Given the description of an element on the screen output the (x, y) to click on. 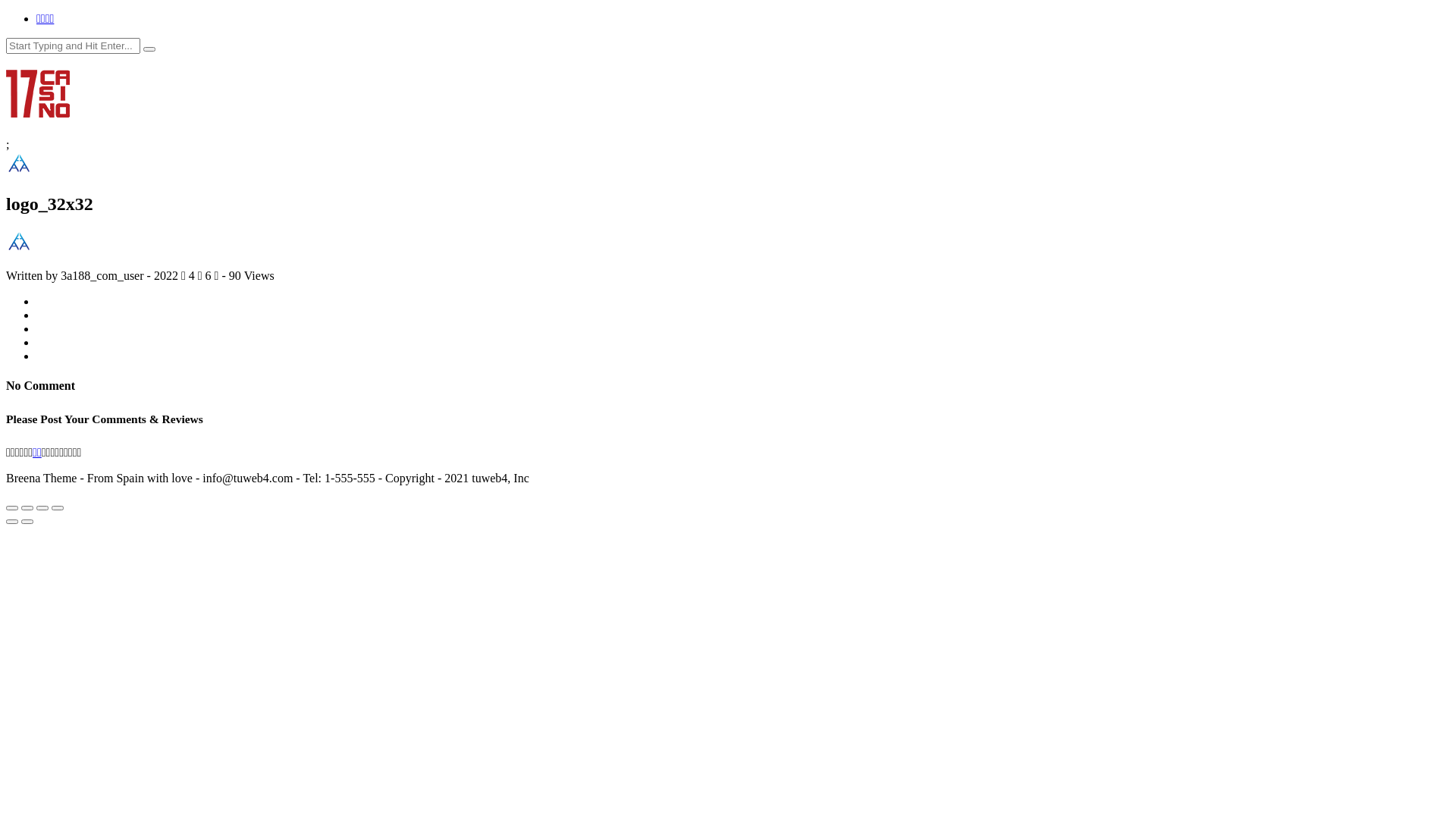
Next (arrow right) Element type: hover (27, 521)
Share Element type: hover (27, 507)
Toggle fullscreen Element type: hover (42, 507)
Zoom in/out Element type: hover (57, 507)
Close (Esc) Element type: hover (12, 507)
Previous (arrow left) Element type: hover (12, 521)
logo_32x32 Element type: hover (18, 163)
